Given the description of an element on the screen output the (x, y) to click on. 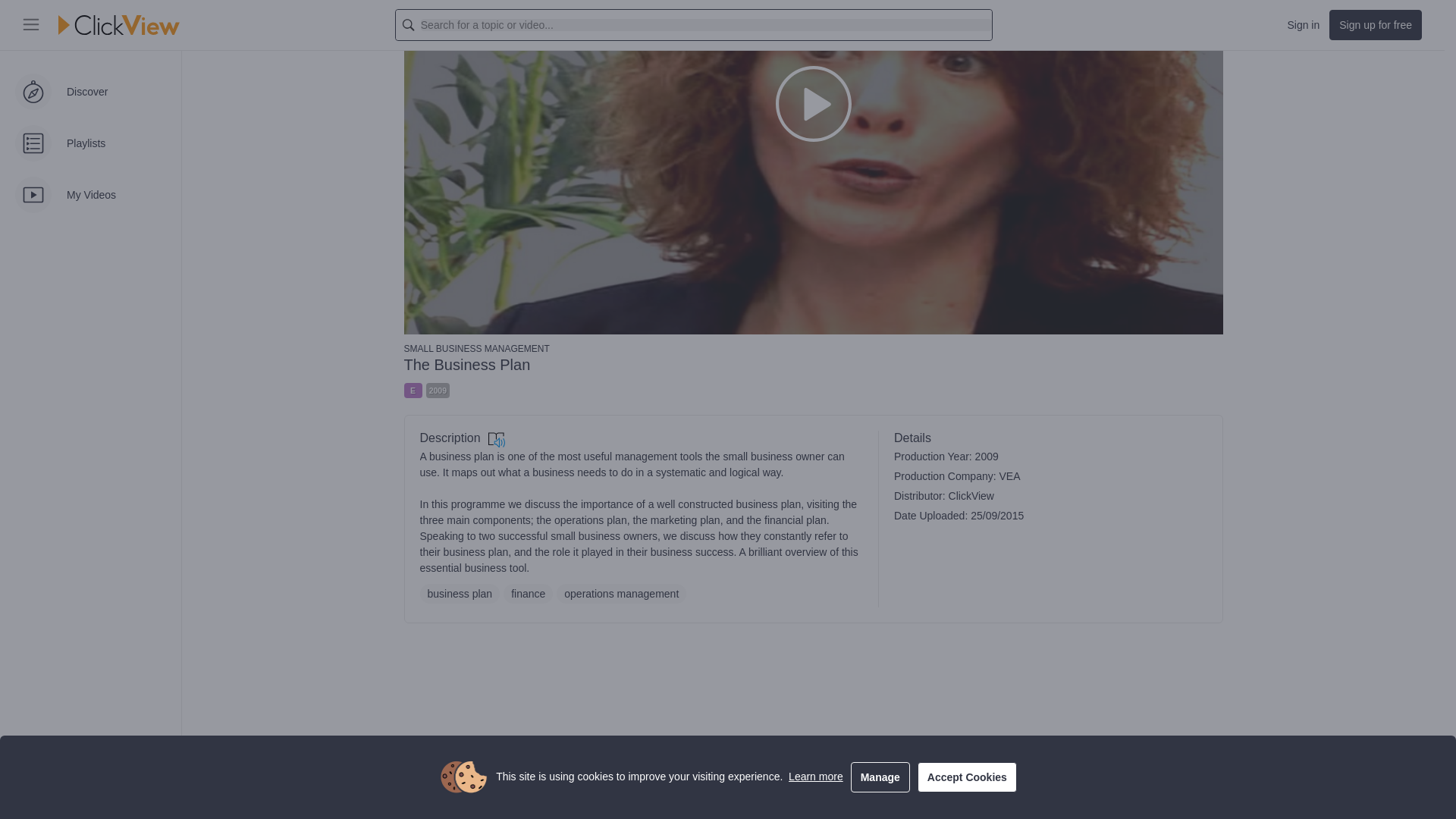
Learn more (816, 583)
My Videos (90, 13)
SMALL BUSINESS MANAGEMENT (813, 347)
finance (528, 593)
SMALL BUSINESS MANAGEMENT (813, 347)
operations management (620, 593)
business plan (460, 593)
